Given the description of an element on the screen output the (x, y) to click on. 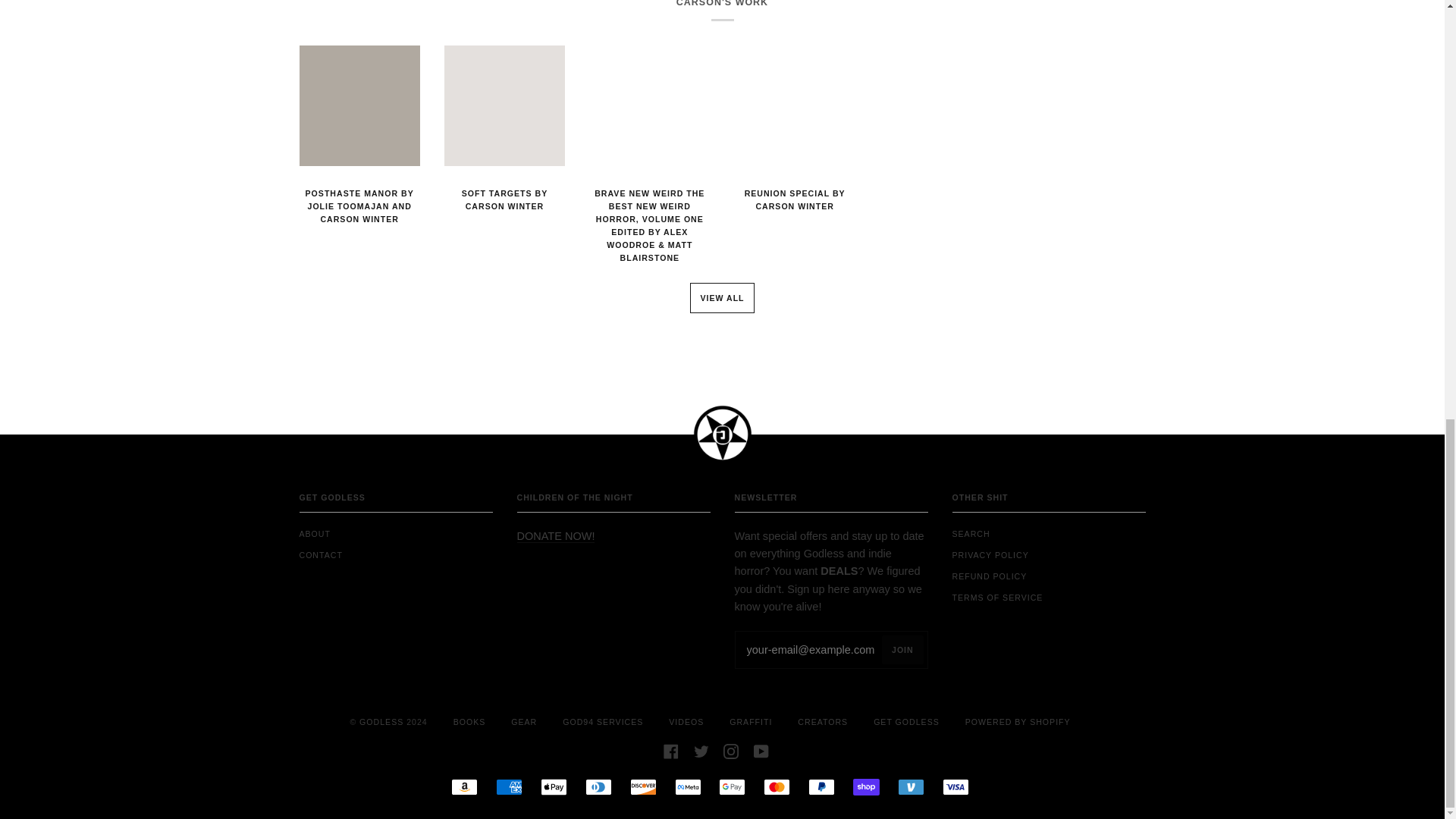
APPLE PAY (553, 786)
Twitter (701, 750)
META PAY (688, 786)
DINERS CLUB (598, 786)
Facebook (670, 750)
SHOP PAY (866, 786)
VENMO (911, 786)
VISA (955, 786)
PAYPAL (821, 786)
AMAZON (464, 786)
